Given the description of an element on the screen output the (x, y) to click on. 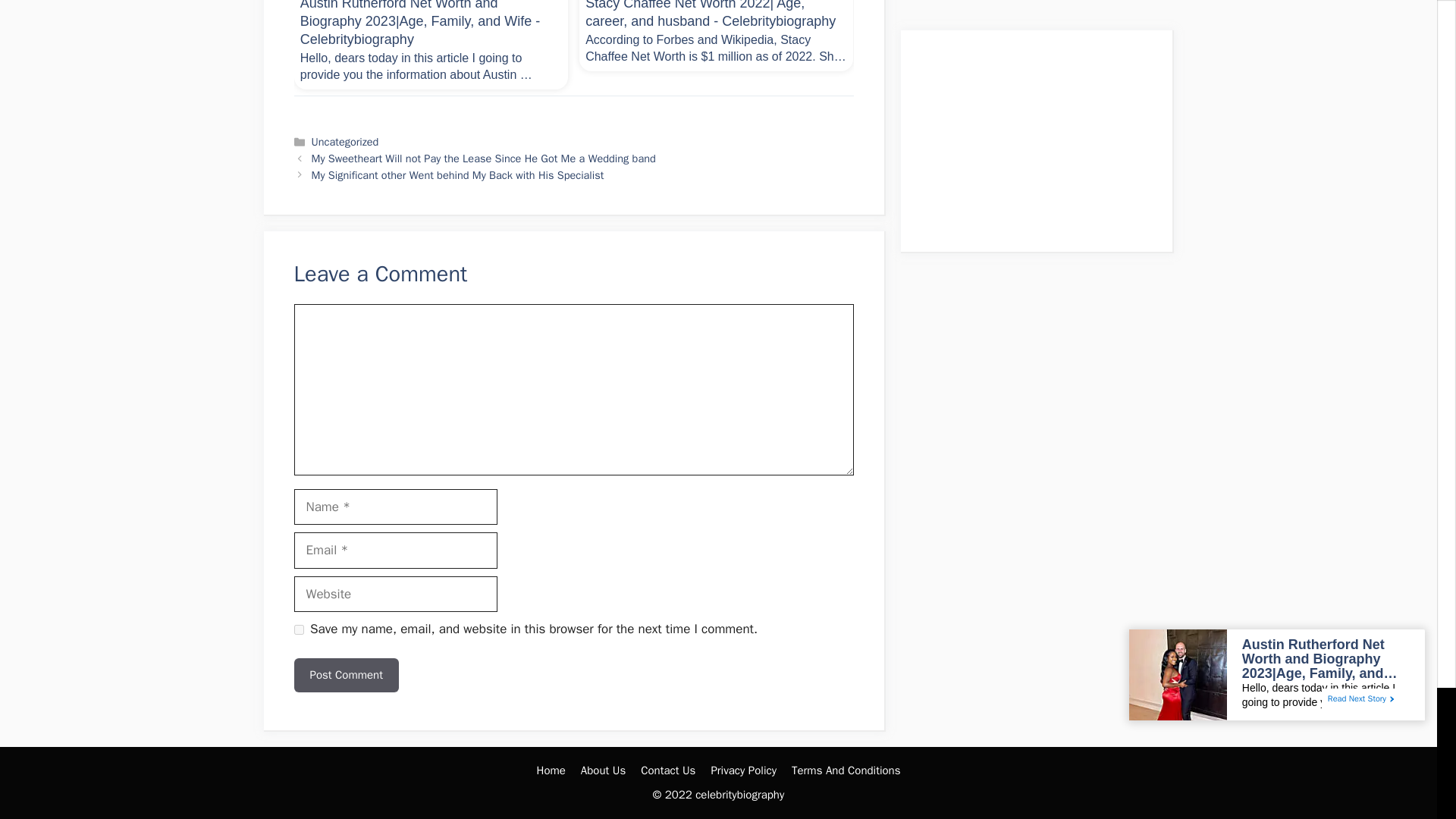
yes (299, 629)
Post Comment (346, 675)
